Given the description of an element on the screen output the (x, y) to click on. 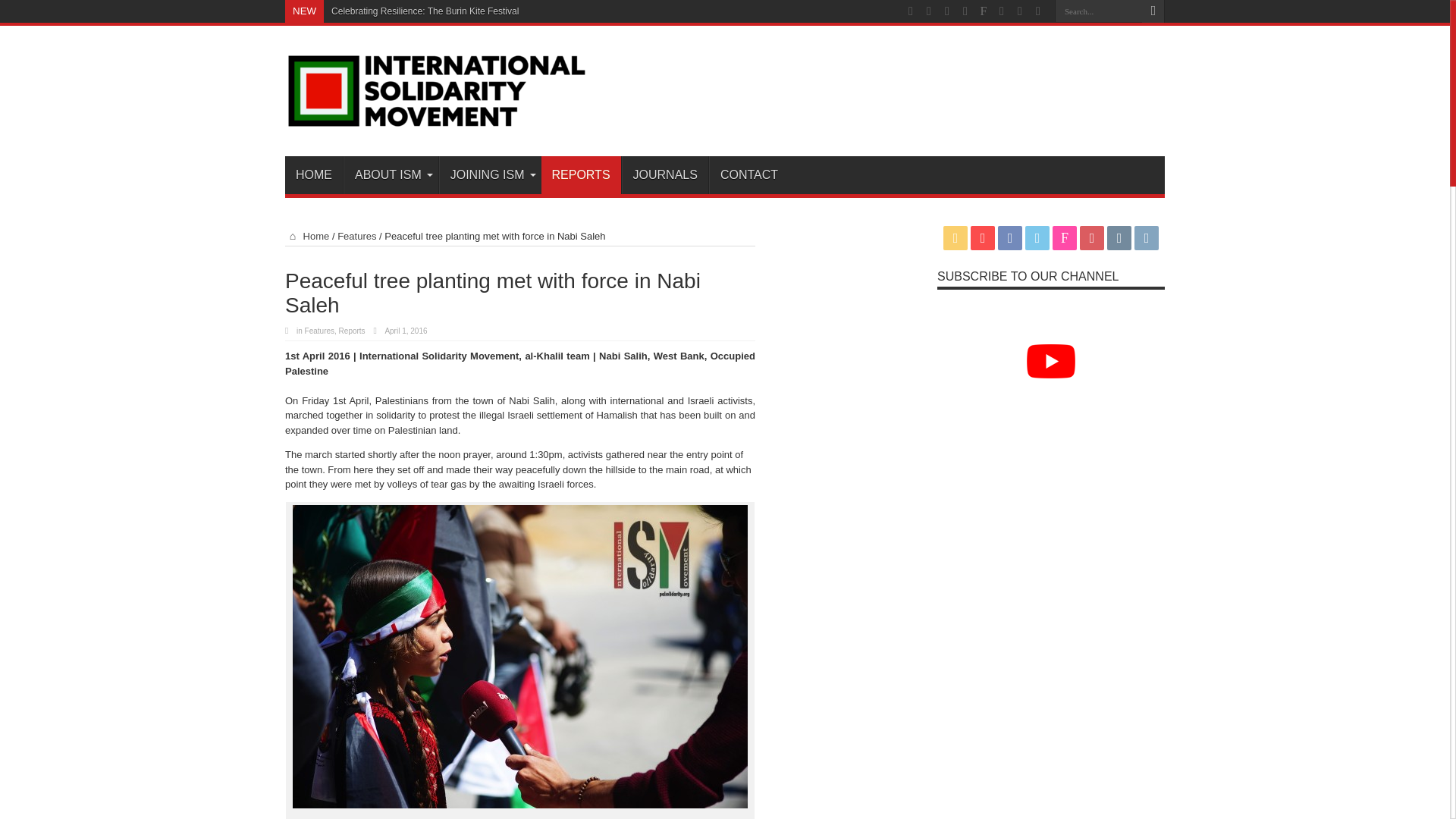
Search... (1097, 11)
International Solidarity Movement (436, 117)
Reports (352, 330)
JOURNALS (664, 175)
CONTACT (749, 175)
ABOUT ISM (390, 175)
Features (319, 330)
REPORTS (581, 175)
JOINING ISM (490, 175)
Home (307, 235)
